Given the description of an element on the screen output the (x, y) to click on. 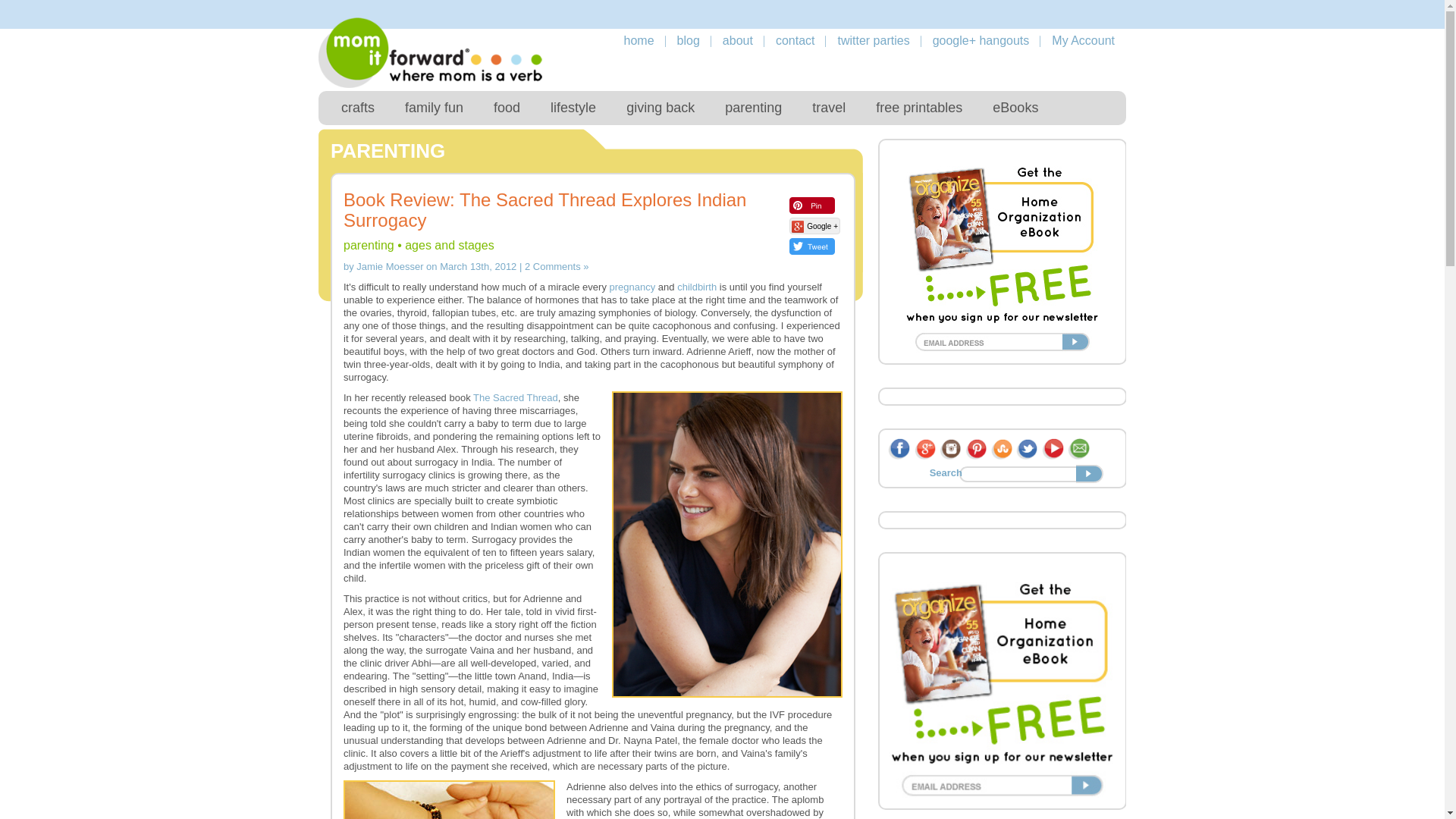
twitter parties (872, 40)
about (737, 40)
home (638, 40)
Sacred Thread cover275 (448, 799)
Search (1089, 474)
blog (688, 40)
Childbirth: What to Do to Prepare for Delivery (696, 286)
Parents Struggle with Infertility Before Miracle Pregnancies (633, 286)
My Account (1083, 40)
crafts (358, 107)
lifestyle (573, 107)
family fun (434, 107)
giving back (660, 107)
contact (795, 40)
food (507, 107)
